Given the description of an element on the screen output the (x, y) to click on. 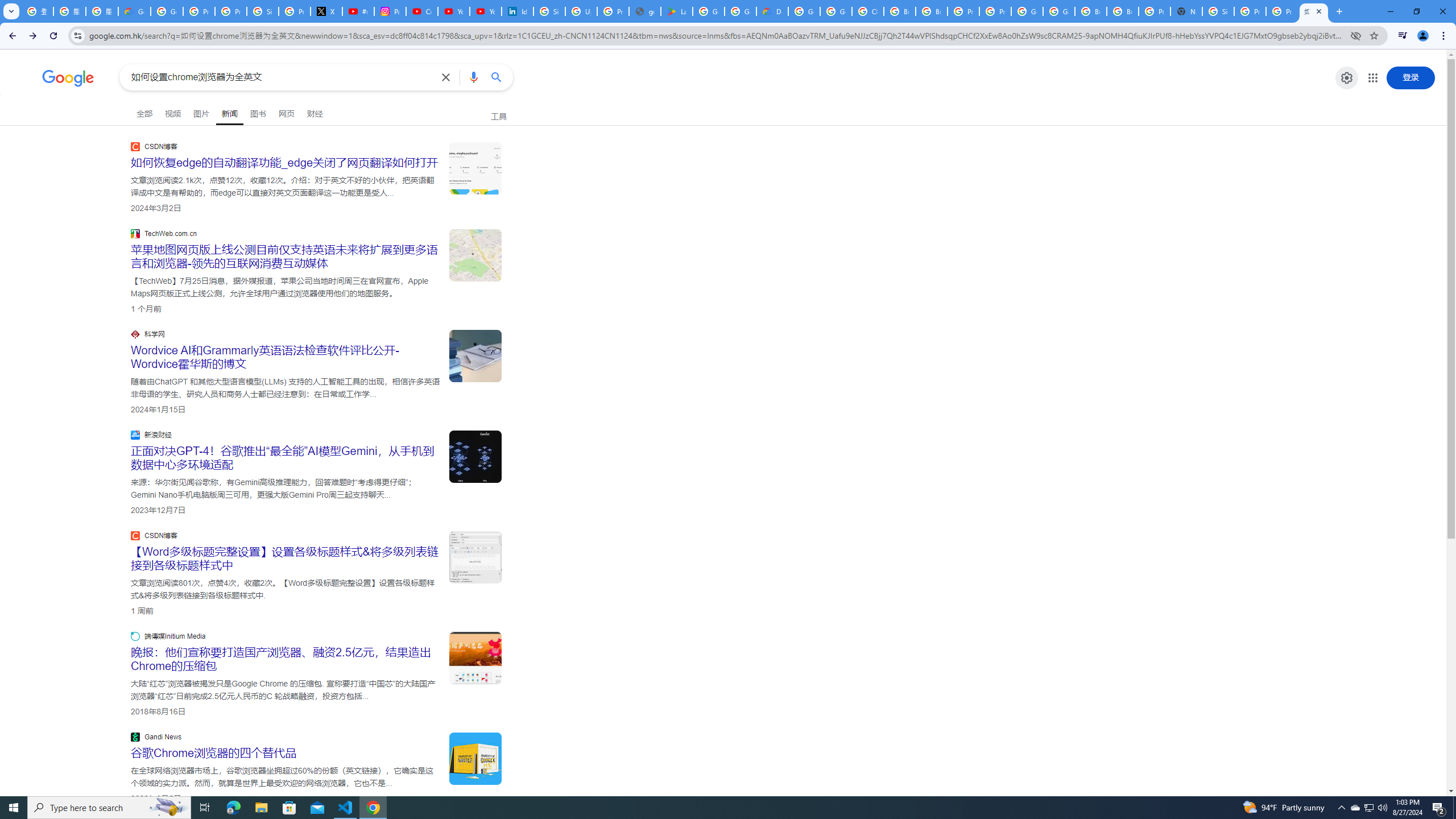
X (326, 11)
Google Cloud Privacy Notice (134, 11)
Google Cloud Platform (804, 11)
